Given the description of an element on the screen output the (x, y) to click on. 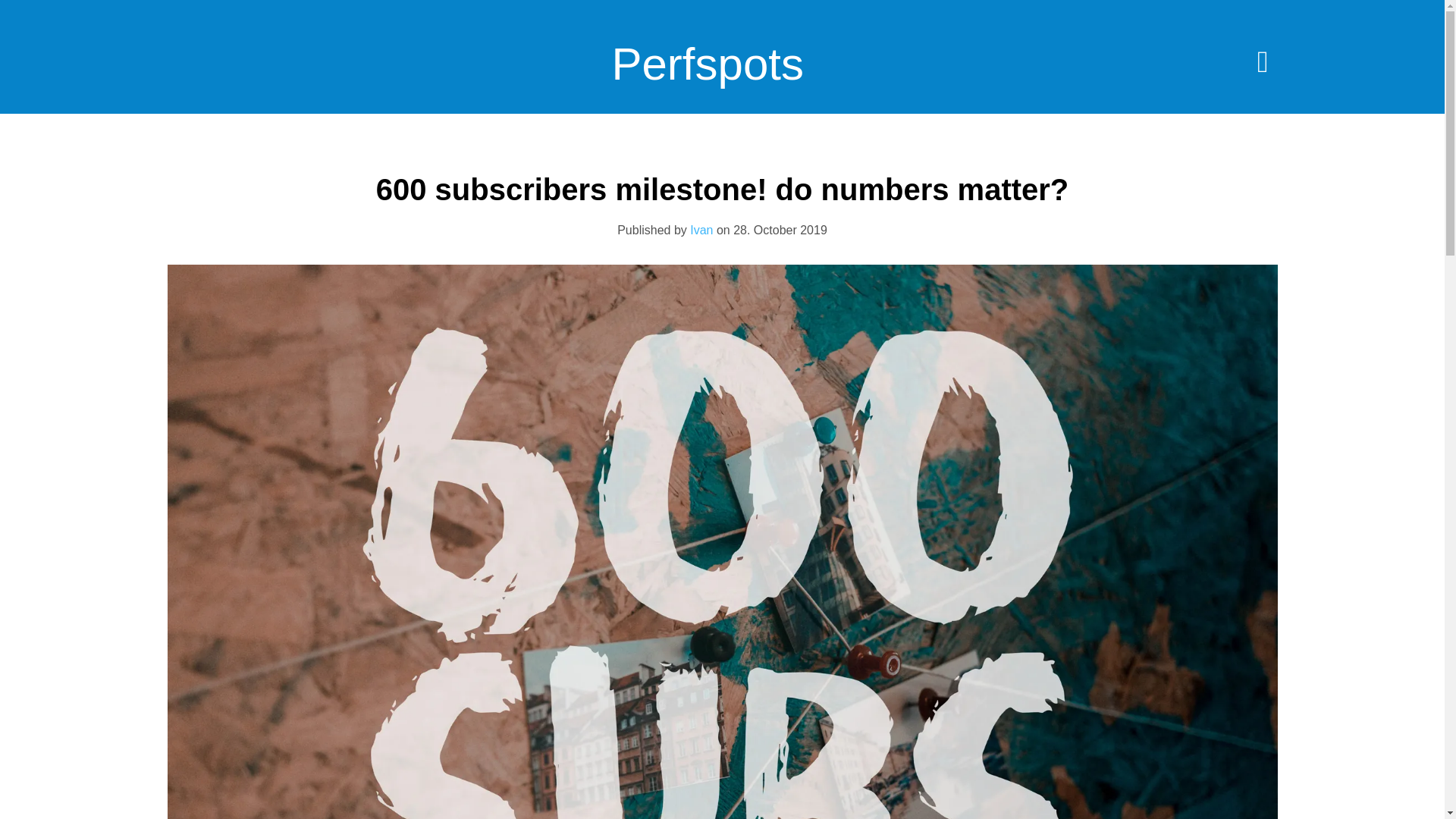
600 subscribers milestone! do numbers matter? (721, 189)
Ivan (701, 229)
Perfspots (707, 74)
Perfspots (707, 74)
